Given the description of an element on the screen output the (x, y) to click on. 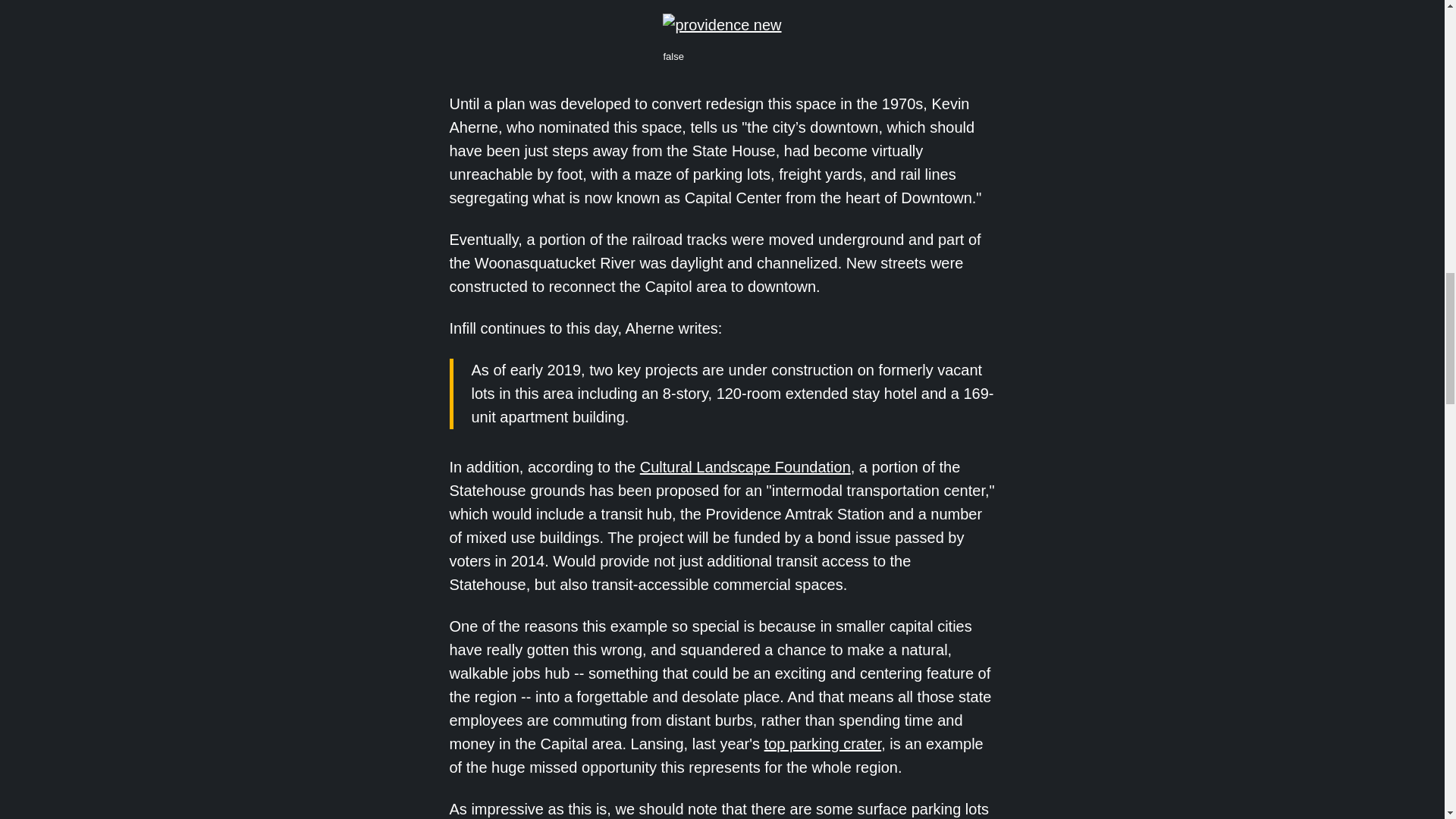
Cultural Landscape Foundation (745, 466)
top parking crater (823, 743)
